Given the description of an element on the screen output the (x, y) to click on. 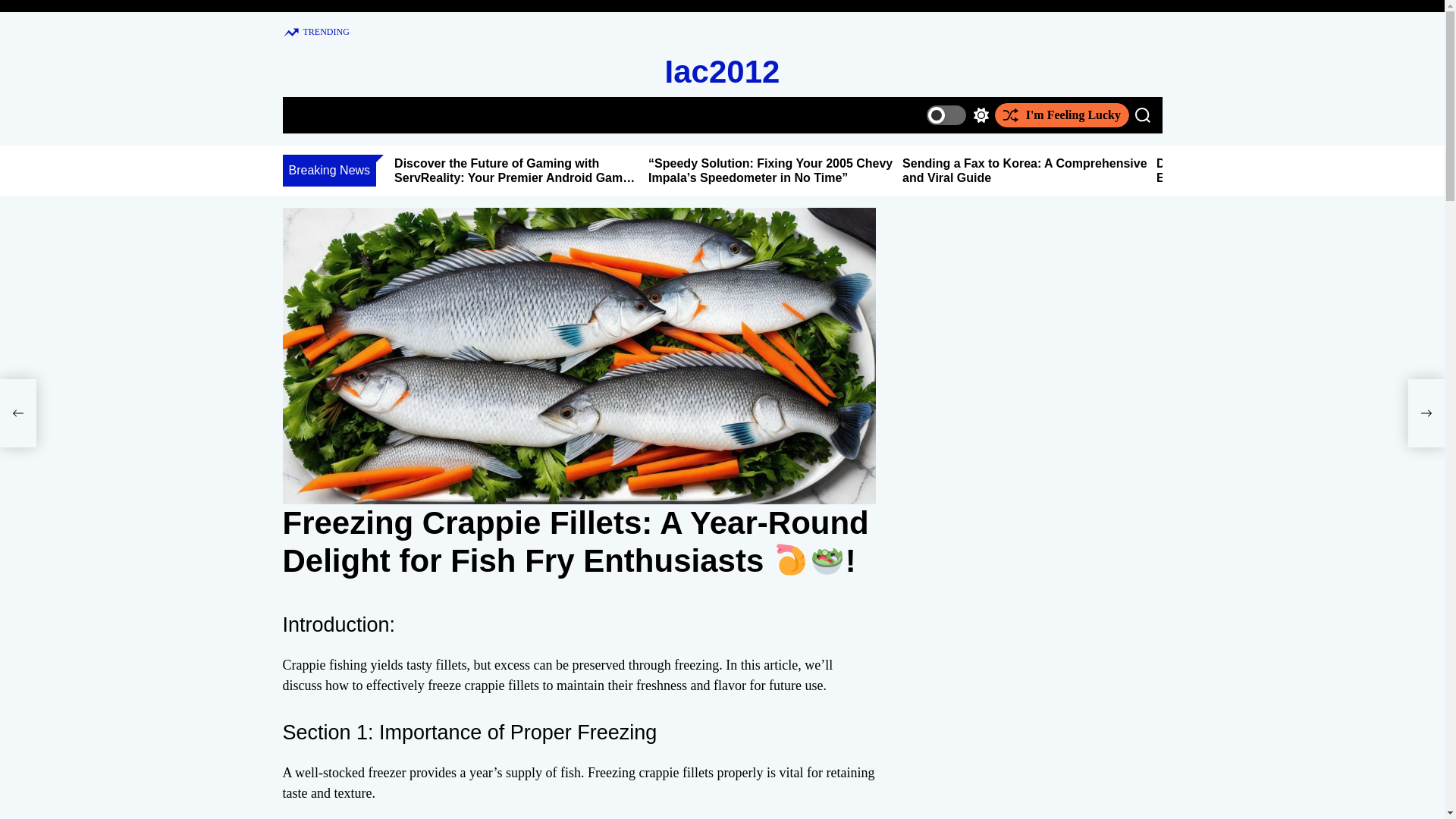
Sending a Fax to Korea: A Comprehensive and Viral Guide (1024, 170)
Switch color mode (957, 115)
I'm Feeling Lucky (1061, 115)
Iac2012 (722, 71)
Search (1142, 114)
